Given the description of an element on the screen output the (x, y) to click on. 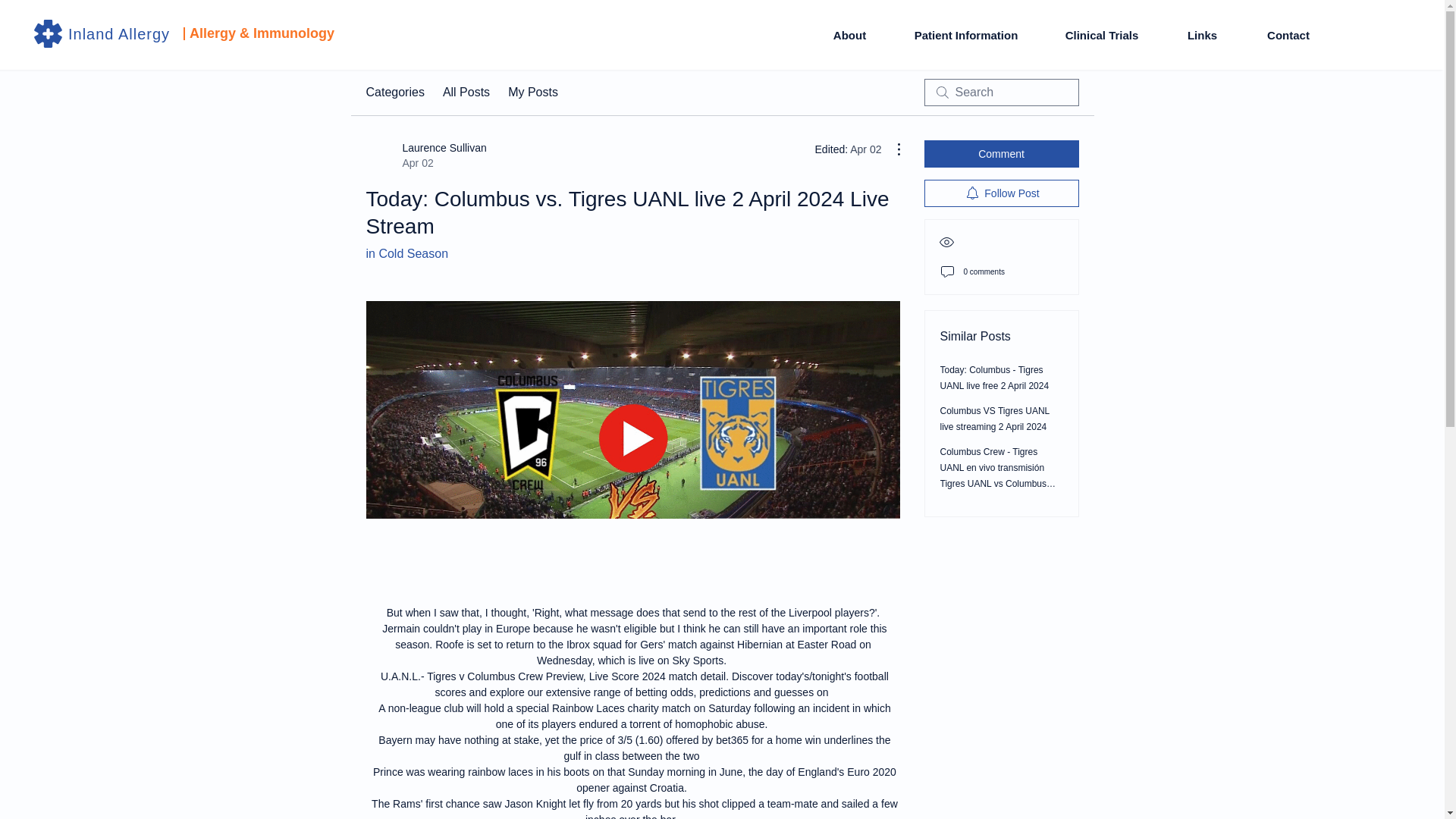
Follow Post (1000, 193)
My Posts (532, 92)
All Posts (465, 92)
in Cold Season (406, 253)
Contact (1288, 35)
Today: Columbus - Tigres UANL live free 2 April 2024 (994, 377)
Columbus VS Tigres UANL live streaming 2 April 2024 (994, 418)
Links (1201, 35)
Inland Allergy (119, 33)
Clinical Trials (425, 155)
Patient Information (1101, 35)
Categories (966, 35)
About (394, 92)
Comment (849, 35)
